Given the description of an element on the screen output the (x, y) to click on. 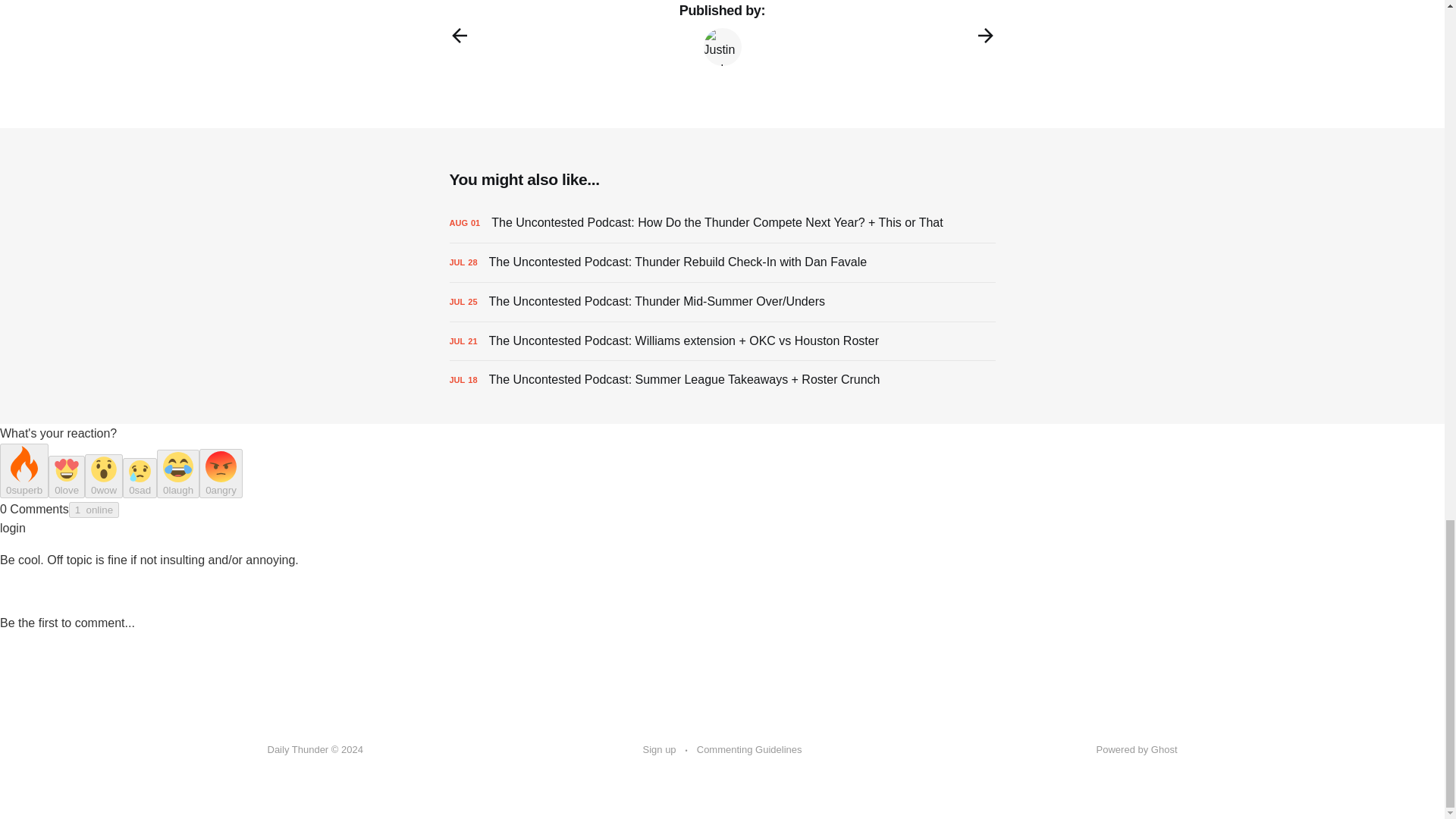
Commenting Guidelines (749, 750)
Powered by Ghost (1136, 749)
Sign up (660, 750)
